Given the description of an element on the screen output the (x, y) to click on. 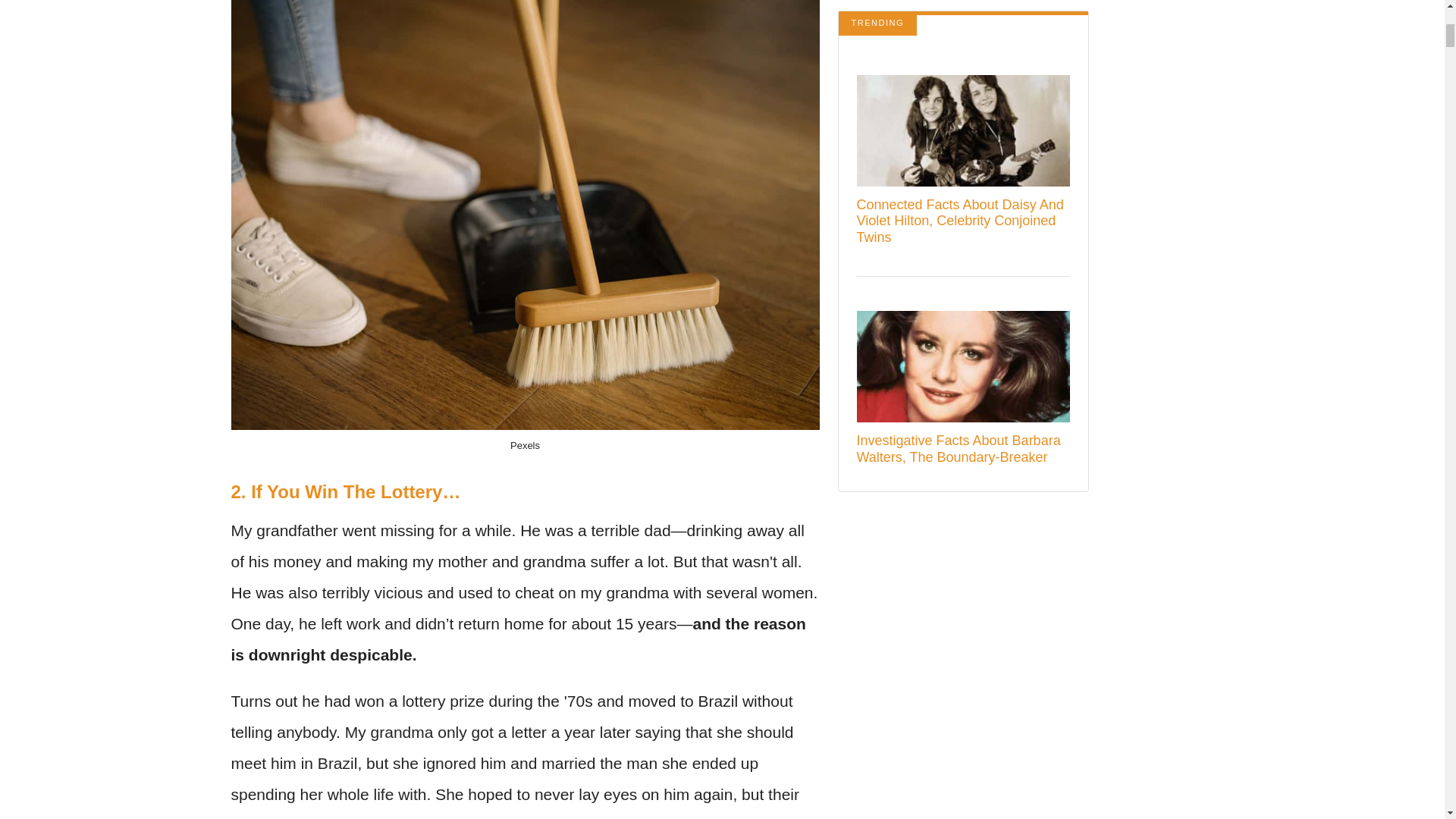
Pexels (525, 445)
